Given the description of an element on the screen output the (x, y) to click on. 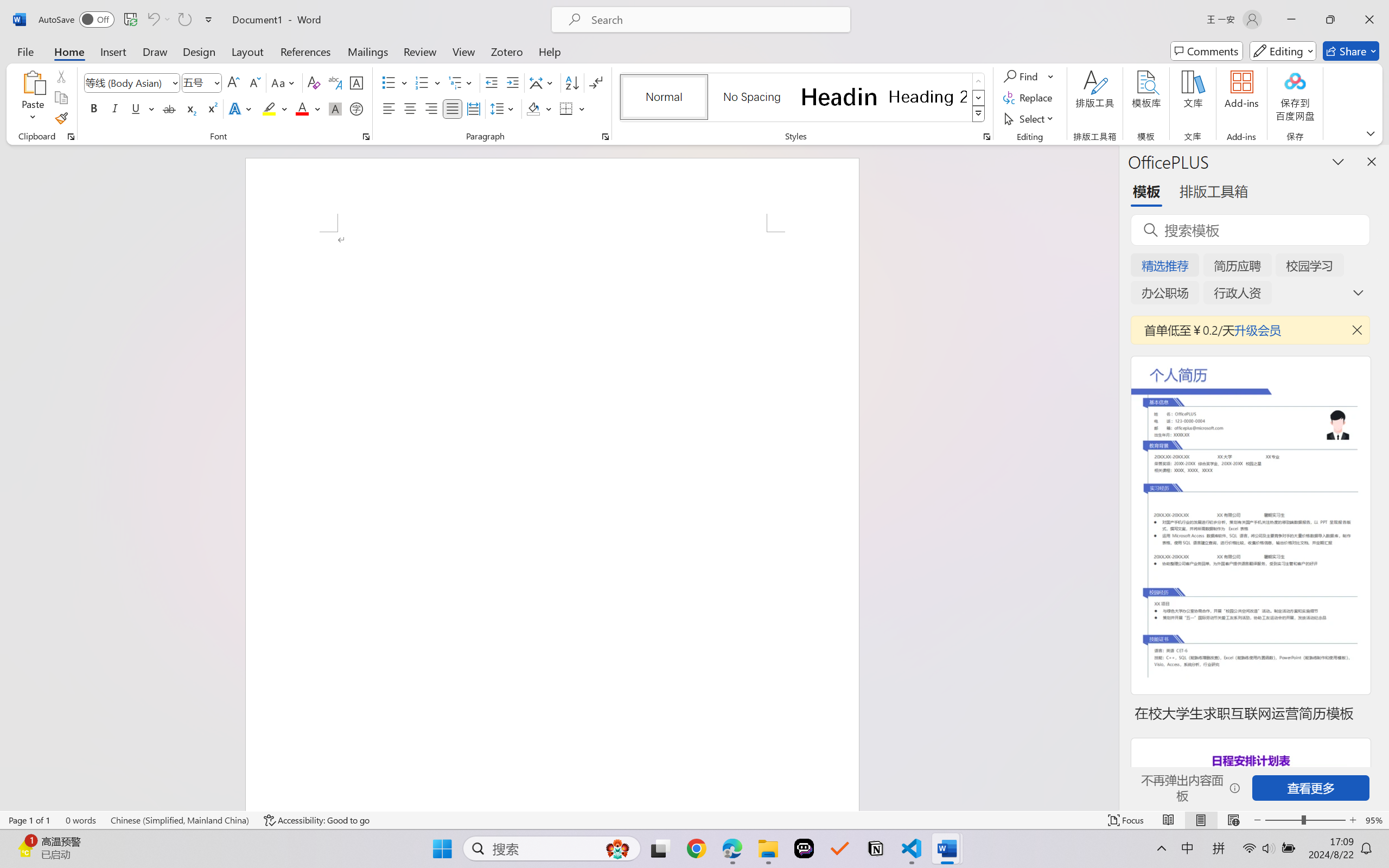
Zoom 95% (1374, 819)
